Given the description of an element on the screen output the (x, y) to click on. 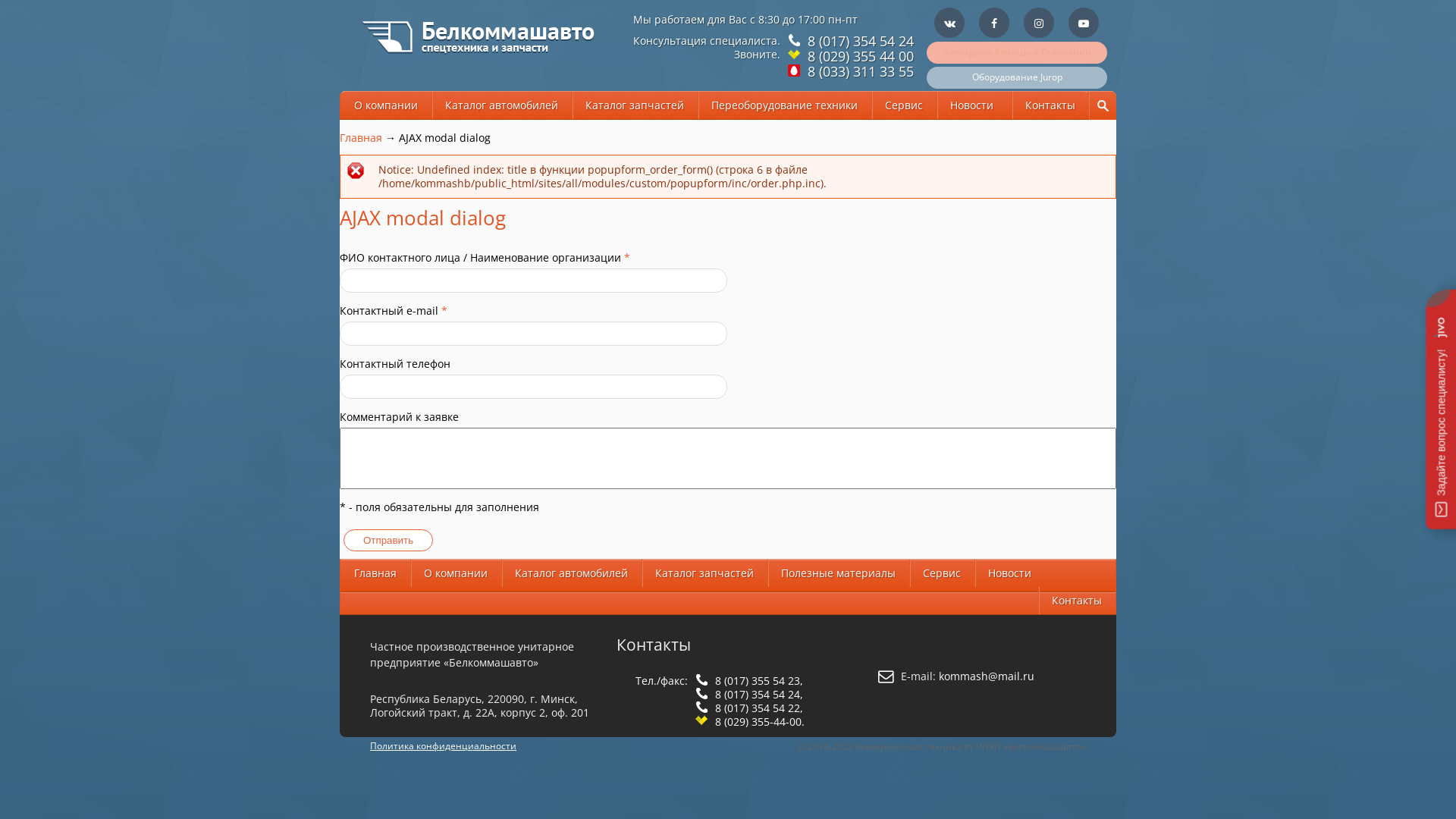
8 (017) 354 54 24 Element type: text (858, 40)
kommash@mail.ru Element type: text (986, 675)
8 (029) 355 44 00 Element type: text (858, 56)
8 (033) 311 33 55 Element type: text (858, 71)
